Given the description of an element on the screen output the (x, y) to click on. 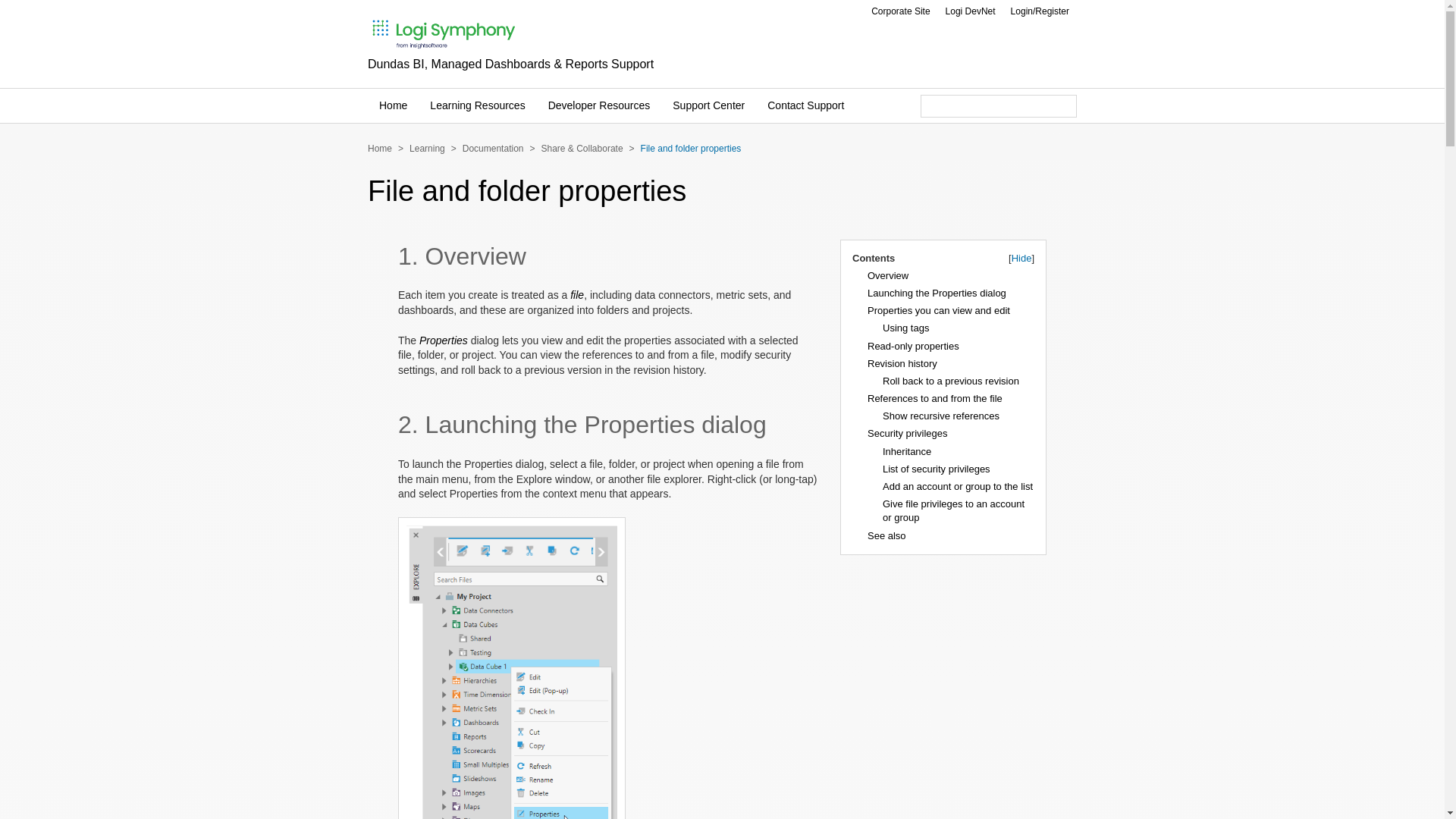
Logi DevNet (970, 11)
Read-only properties (913, 345)
Hide (1021, 257)
Learning Resources (477, 105)
Home (393, 105)
Corporate Site (900, 11)
Learning (427, 148)
Launching the Properties dialog (936, 293)
Documentation (493, 148)
Home (379, 148)
